Given the description of an element on the screen output the (x, y) to click on. 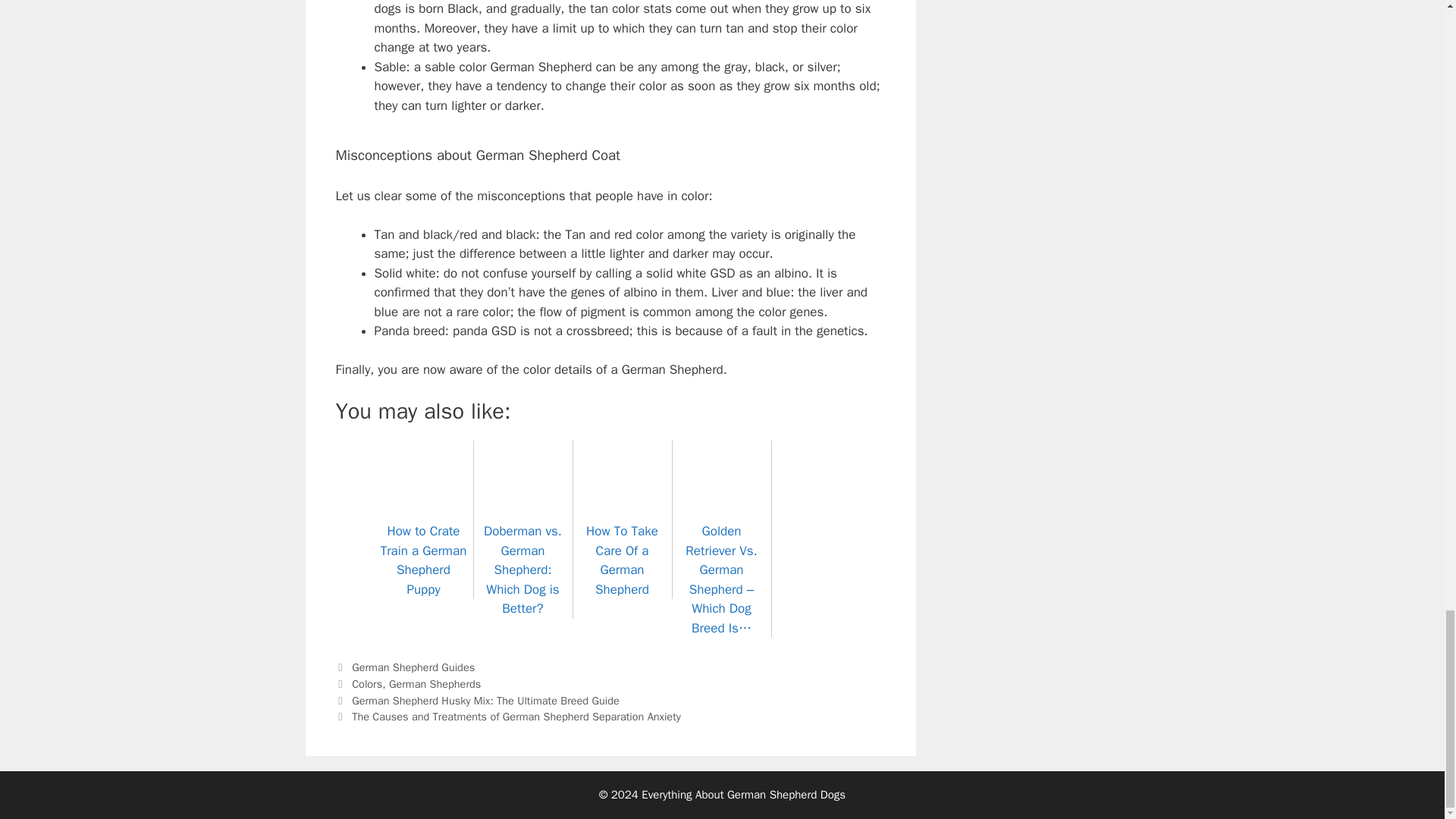
How to Crate Train a German Shepherd Puppy (423, 550)
German Shepherds (434, 684)
German Shepherd Guides (413, 667)
Next (506, 716)
Previous (476, 700)
German Shepherd Husky Mix: The Ultimate Breed Guide (486, 700)
Colors (366, 684)
